Given the description of an element on the screen output the (x, y) to click on. 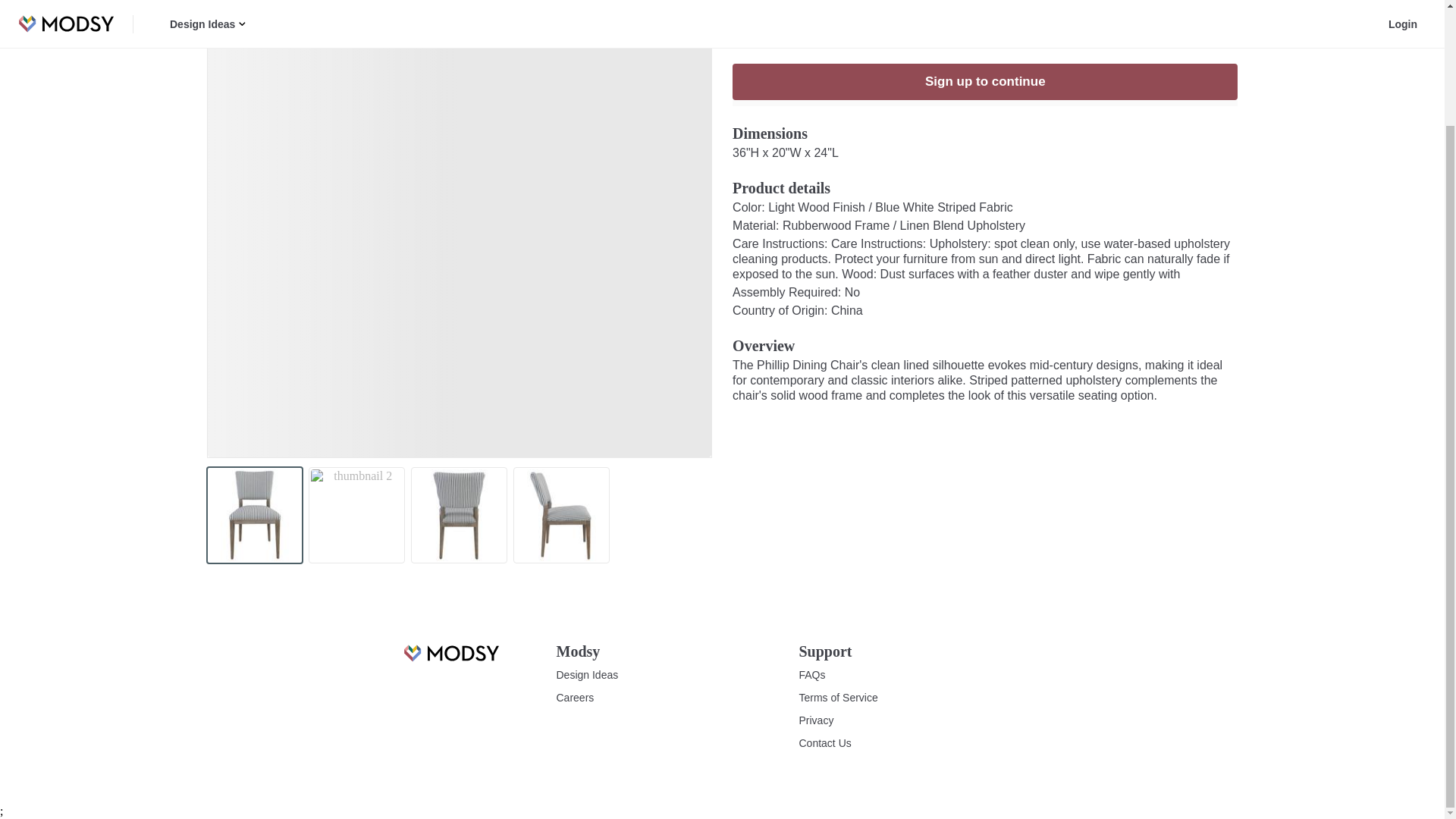
Terms of Service (838, 697)
Go to modsy homepageLogo to redirect to modsy homepage (451, 660)
Contact Us (825, 743)
FAQs (812, 674)
Sign up to continue (984, 81)
Privacy (816, 720)
Go to modsy homepageLogo to redirect to modsy homepage (451, 653)
Design Ideas (587, 674)
Careers (575, 697)
